Given the description of an element on the screen output the (x, y) to click on. 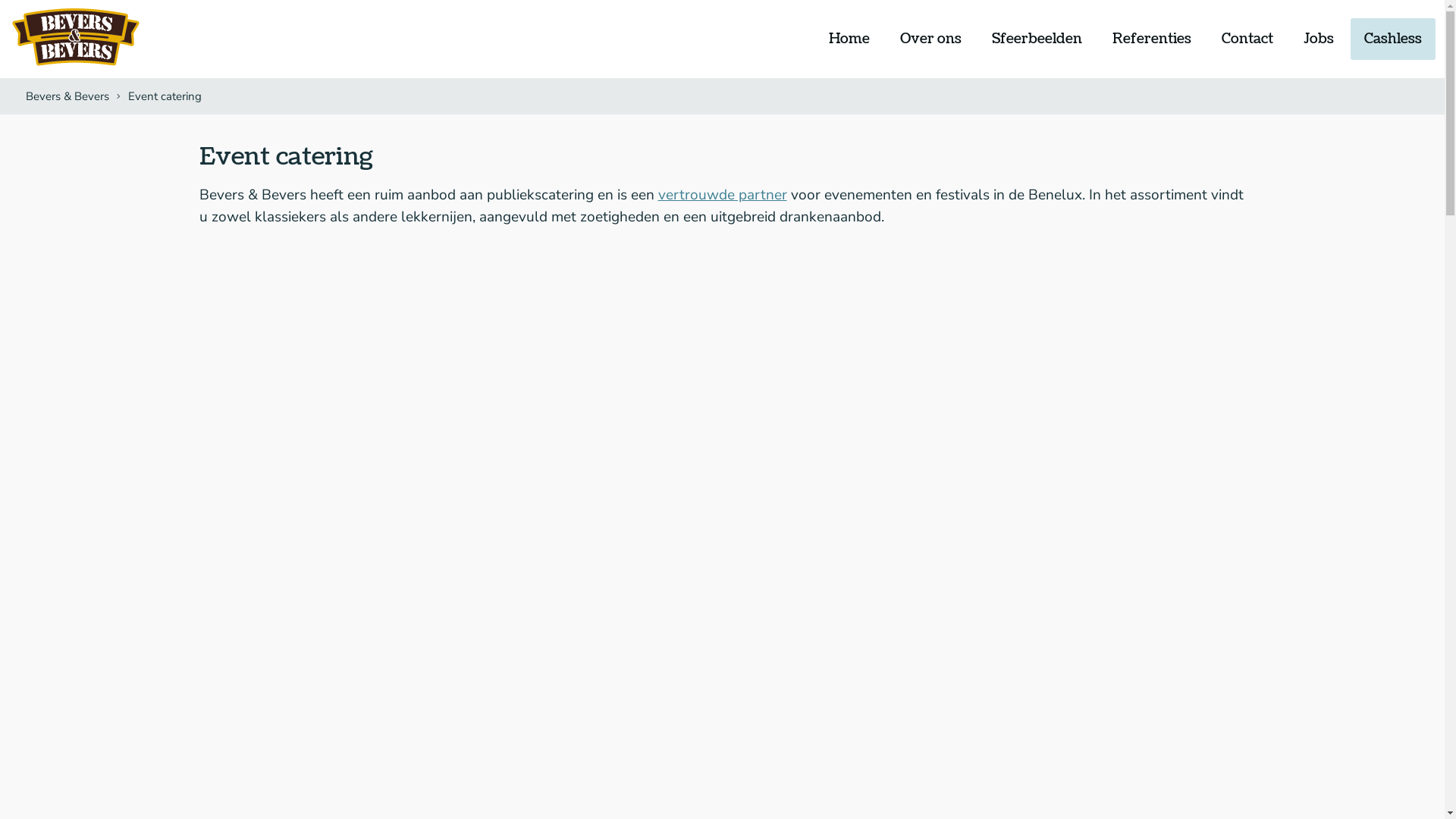
Over ons Element type: text (930, 38)
Contact Element type: text (1247, 38)
Jobs Element type: text (1318, 38)
Referenties Element type: text (1151, 38)
Cashless Element type: text (1392, 38)
vertrouwde partner Element type: text (722, 194)
Bevers & Bevers Element type: hover (75, 37)
Home Element type: text (849, 38)
Sfeerbeelden Element type: text (1036, 38)
Bevers & Bevers Element type: text (67, 95)
Event catering Element type: text (162, 95)
